Given the description of an element on the screen output the (x, y) to click on. 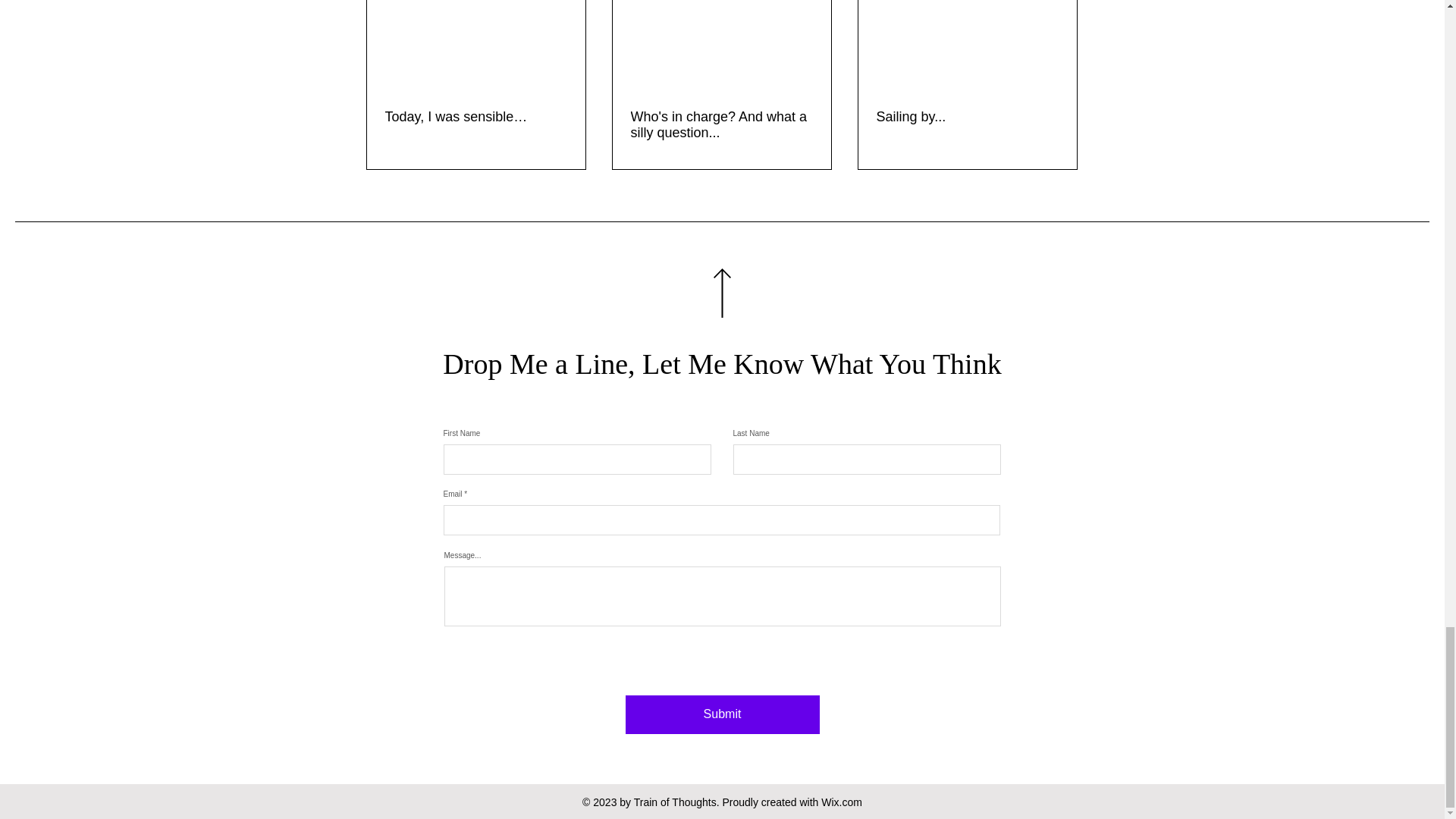
Who's in charge? And what a silly question... (721, 124)
Sailing by... (967, 116)
Submit (721, 714)
Wix.com (841, 802)
